Given the description of an element on the screen output the (x, y) to click on. 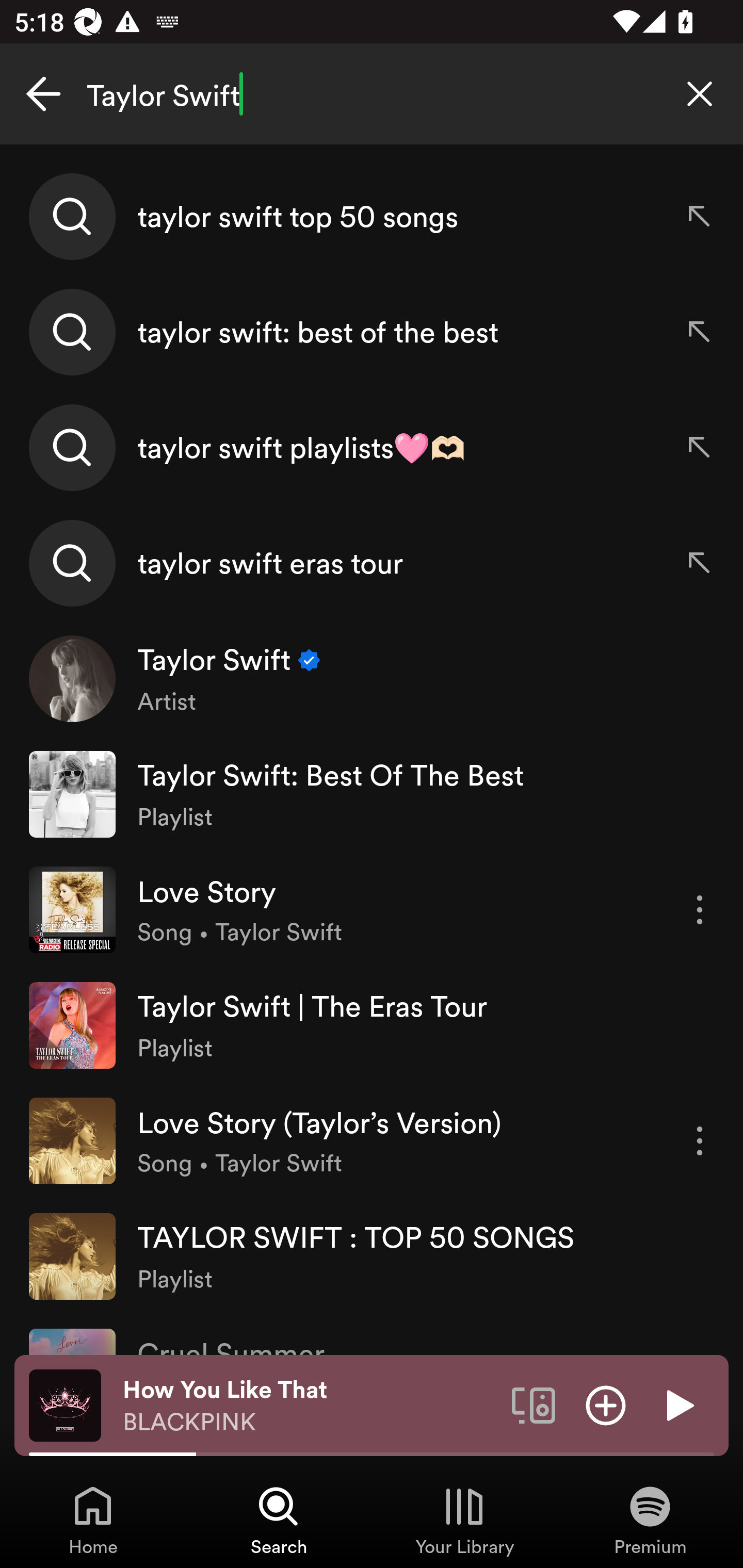
Taylor Swift (371, 93)
Cancel (43, 93)
Clear search query (699, 93)
taylor swift top 50 songs (371, 216)
taylor swift: best of the best (371, 332)
taylor swift playlists🩷🫶🏻 (371, 447)
taylor swift eras tour (371, 562)
Taylor Swift Verified Artist (371, 678)
Taylor Swift: Best Of The Best Playlist (371, 793)
More options for song Love Story (699, 910)
Taylor Swift | The Eras Tour Playlist (371, 1025)
TAYLOR SWIFT : TOP 50 SONGS Playlist (371, 1255)
How You Like That BLACKPINK (309, 1405)
The cover art of the currently playing track (64, 1404)
Connect to a device. Opens the devices menu (533, 1404)
Add item (605, 1404)
Play (677, 1404)
Home, Tab 1 of 4 Home Home (92, 1519)
Search, Tab 2 of 4 Search Search (278, 1519)
Your Library, Tab 3 of 4 Your Library Your Library (464, 1519)
Premium, Tab 4 of 4 Premium Premium (650, 1519)
